Given the description of an element on the screen output the (x, y) to click on. 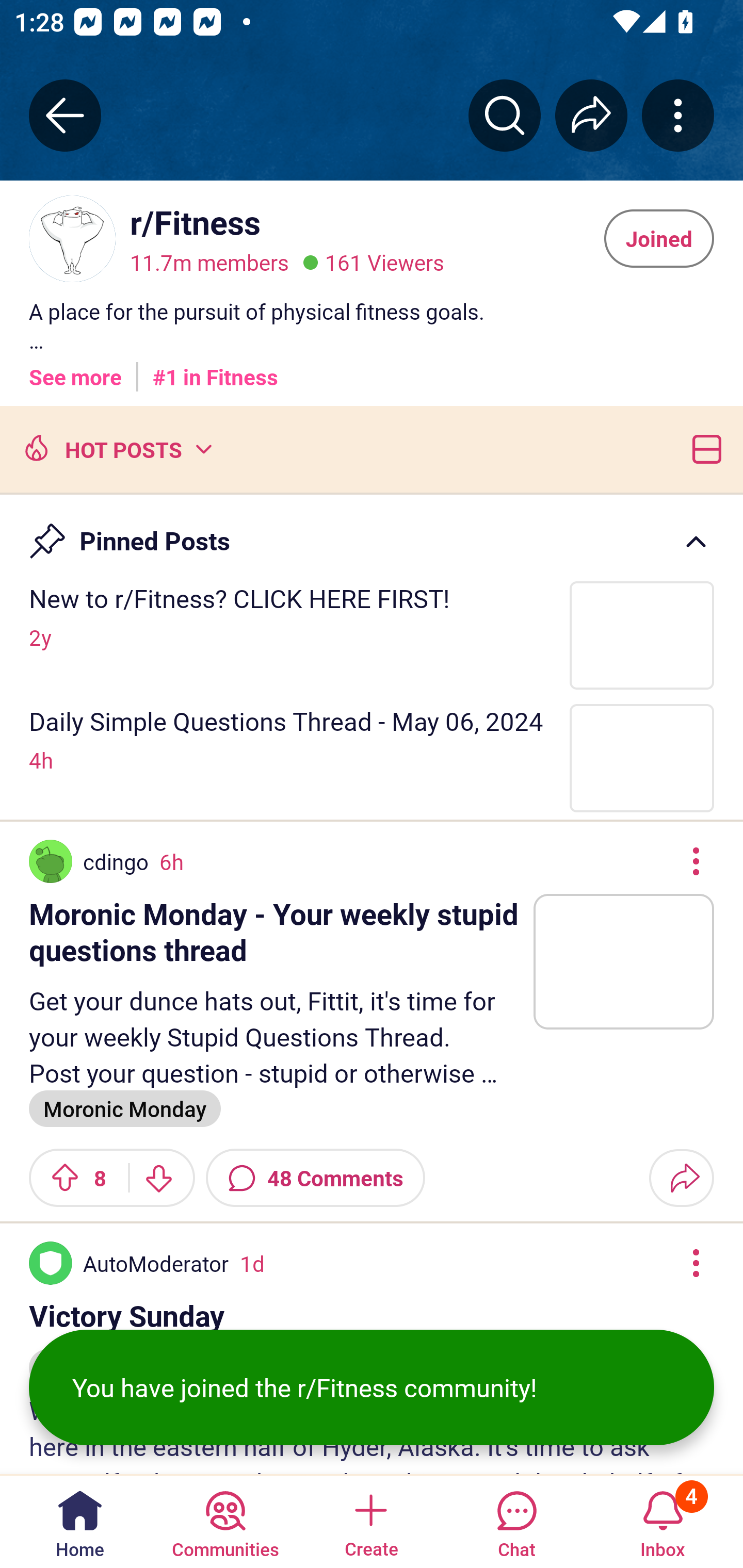
Back (64, 115)
Search r/﻿Fitness (504, 115)
Share r/﻿Fitness (591, 115)
More community actions (677, 115)
See more (74, 369)
#1 in Fitness (215, 369)
Hot posts HOT POSTS (116, 448)
Card (703, 448)
Pin Pinned Posts Caret (371, 531)
New to r/Fitness? CLICK HERE FIRST! 2y Thumbnail (371, 634)
Moronic Monday (124, 1107)
Home (80, 1520)
Communities (225, 1520)
Create a post Create (370, 1520)
Chat (516, 1520)
Inbox, has 4 notifications 4 Inbox (662, 1520)
